Given the description of an element on the screen output the (x, y) to click on. 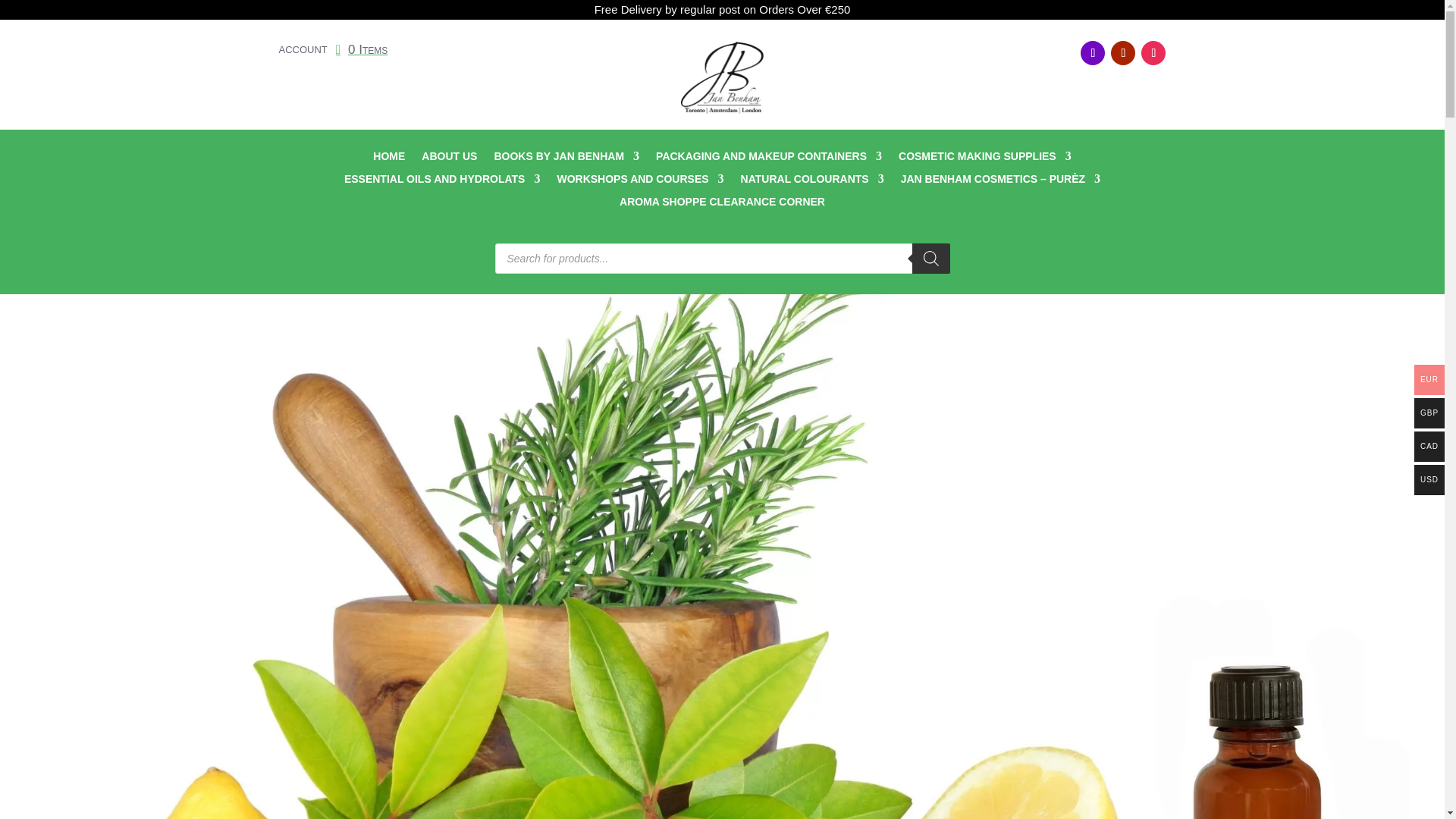
ESSENTIAL OILS AND HYDROLATS (441, 181)
BOOKS BY JAN BENHAM (566, 158)
logo-jpg (720, 77)
Follow on Youtube (1122, 52)
PACKAGING AND MAKEUP CONTAINERS (769, 158)
Follow on Facebook (1092, 52)
HOME (388, 158)
ACCOUNT (303, 52)
0 Items (361, 48)
ABOUT US (449, 158)
Follow on Instagram (1153, 52)
COSMETIC MAKING SUPPLIES (984, 158)
